Given the description of an element on the screen output the (x, y) to click on. 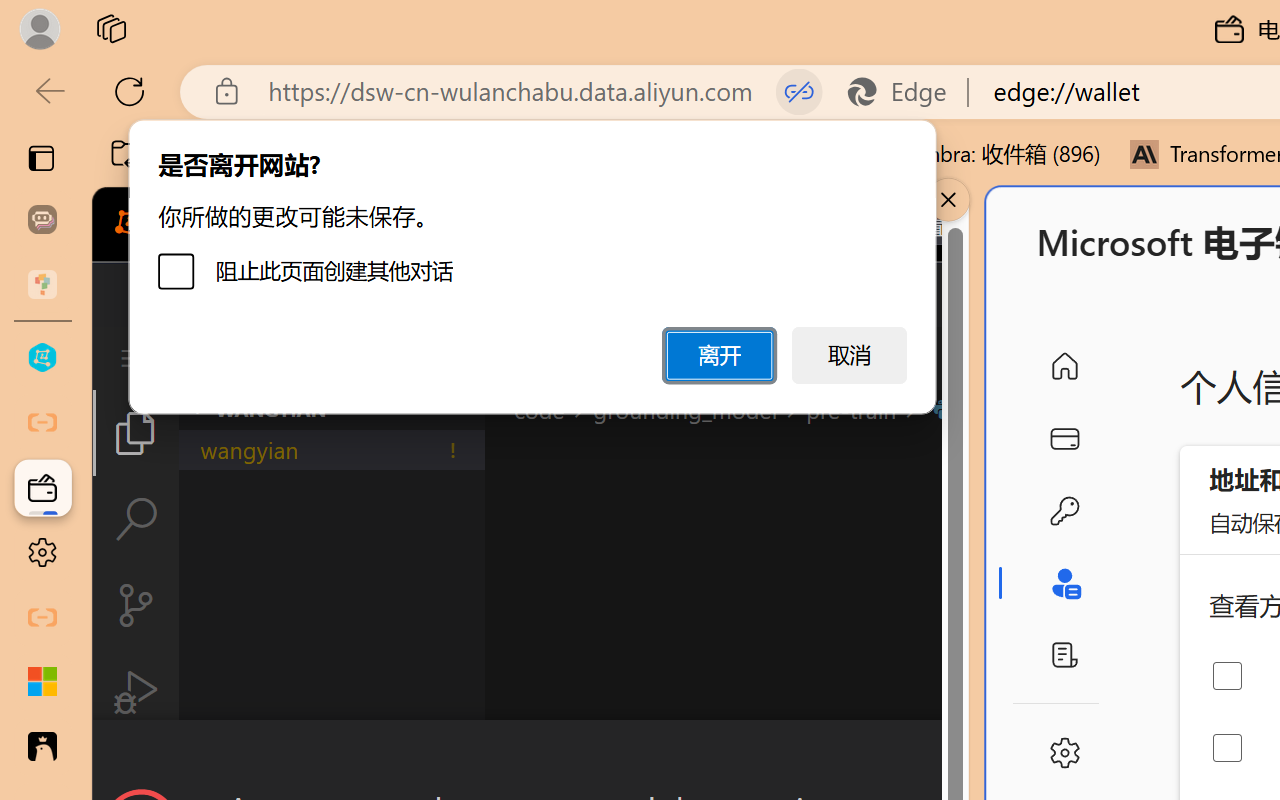
Close Dialog (959, 756)
Run and Debug (Ctrl+Shift+D) (135, 692)
Class: actions-container (529, 756)
Microsoft security help and learning (42, 681)
